Given the description of an element on the screen output the (x, y) to click on. 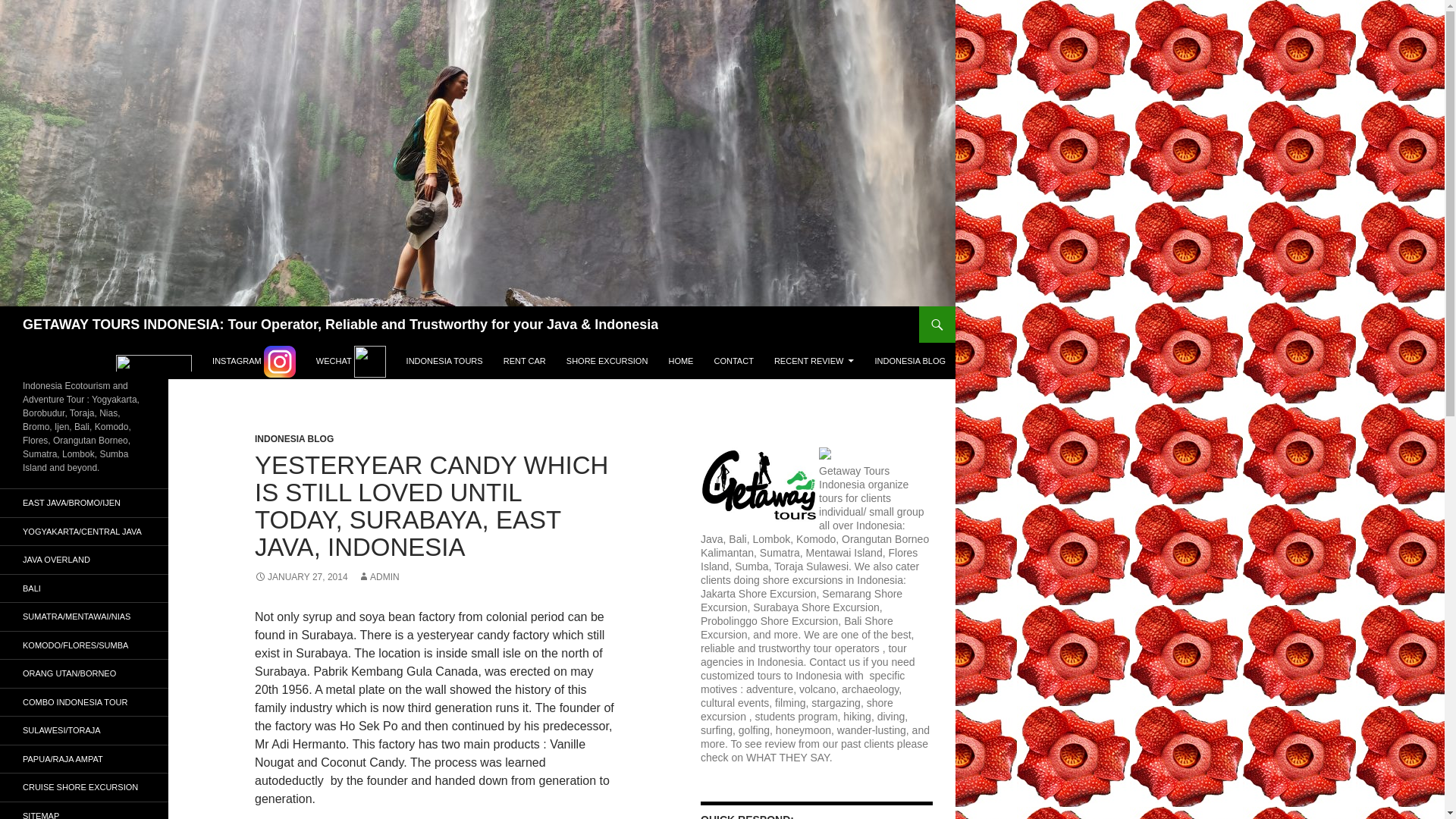
SITEMAP (84, 810)
JANUARY 27, 2014 (300, 576)
CONTACT (733, 361)
HOME (680, 361)
JAVA OVERLAND (84, 560)
BALI (84, 588)
INDONESIA BLOG (293, 439)
RENT CAR (524, 361)
SHORE EXCURSION (607, 361)
INSTAGRAM (253, 361)
RECENT REVIEW (814, 361)
COMBO INDONESIA TOUR (84, 702)
CRUISE SHORE EXCURSION (84, 787)
